Given the description of an element on the screen output the (x, y) to click on. 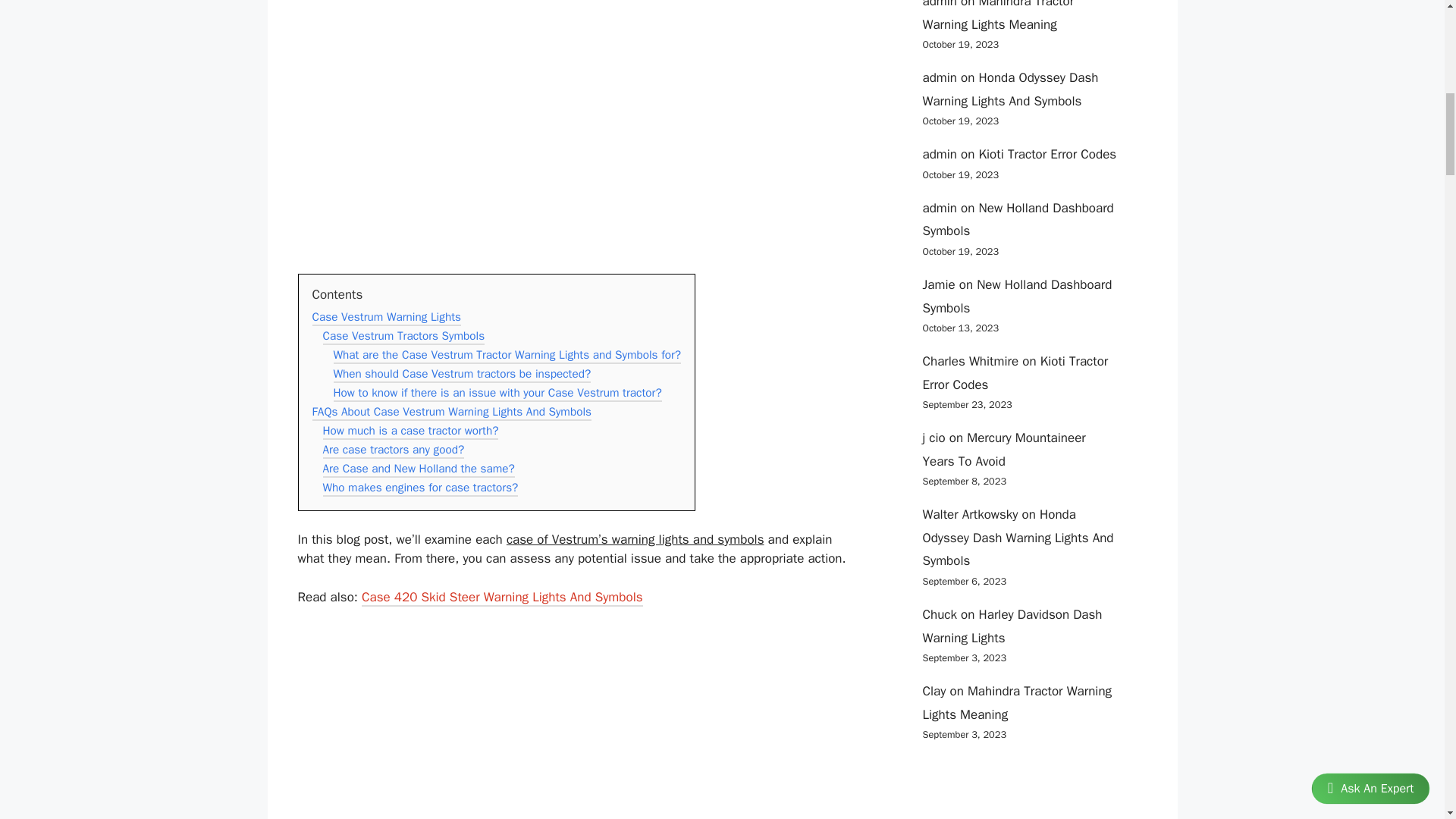
Case 420 Skid Steer Warning Lights And Symbols (501, 598)
FAQs About Case Vestrum Warning Lights And Symbols (452, 413)
Are case tractors any good? (393, 451)
Case Vestrum Warning Lights (387, 318)
When should Case Vestrum tractors be inspected? (462, 375)
How much is a case tractor worth? (411, 432)
Are Case and New Holland the same? (419, 470)
Who makes engines for case tractors? (420, 488)
Case Vestrum Tractors Symbols (403, 337)
